Given the description of an element on the screen output the (x, y) to click on. 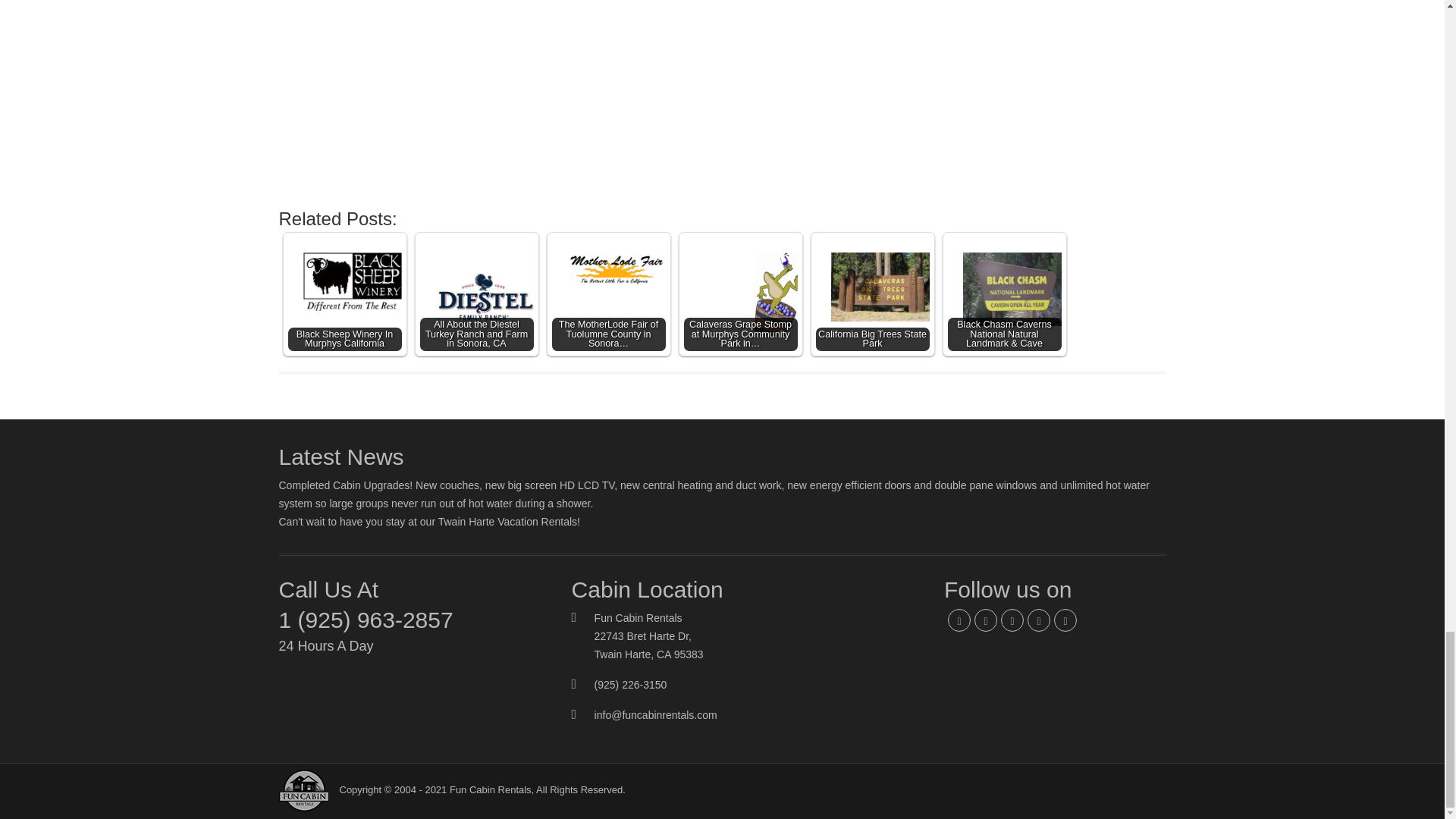
Twain Harte Vacation Rentals (507, 521)
Black Sheep Winery In Murphys California (344, 281)
All About the Diestel Turkey Ranch and Farm in Sonora, CA (477, 294)
California Big Trees State Park (872, 294)
California Big Trees State Park (872, 286)
Black Sheep Winery In Murphys California (344, 294)
All About the Diestel Turkey Ranch and Farm in Sonora, CA (477, 286)
